Given the description of an element on the screen output the (x, y) to click on. 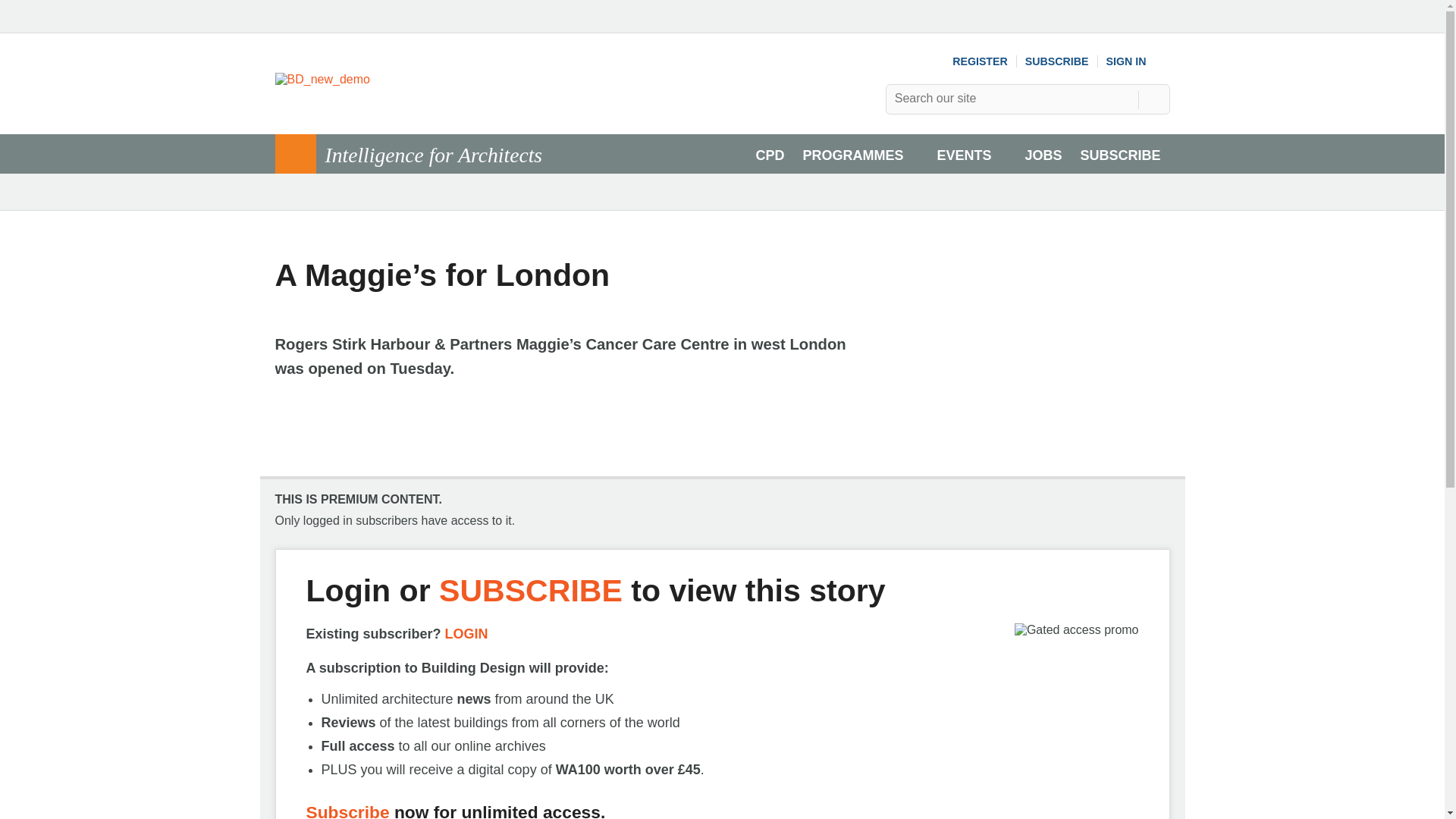
SUBSCRIBE (1057, 61)
REGISTER (979, 61)
SEARCH (1153, 98)
SIGN IN (1138, 61)
